Given the description of an element on the screen output the (x, y) to click on. 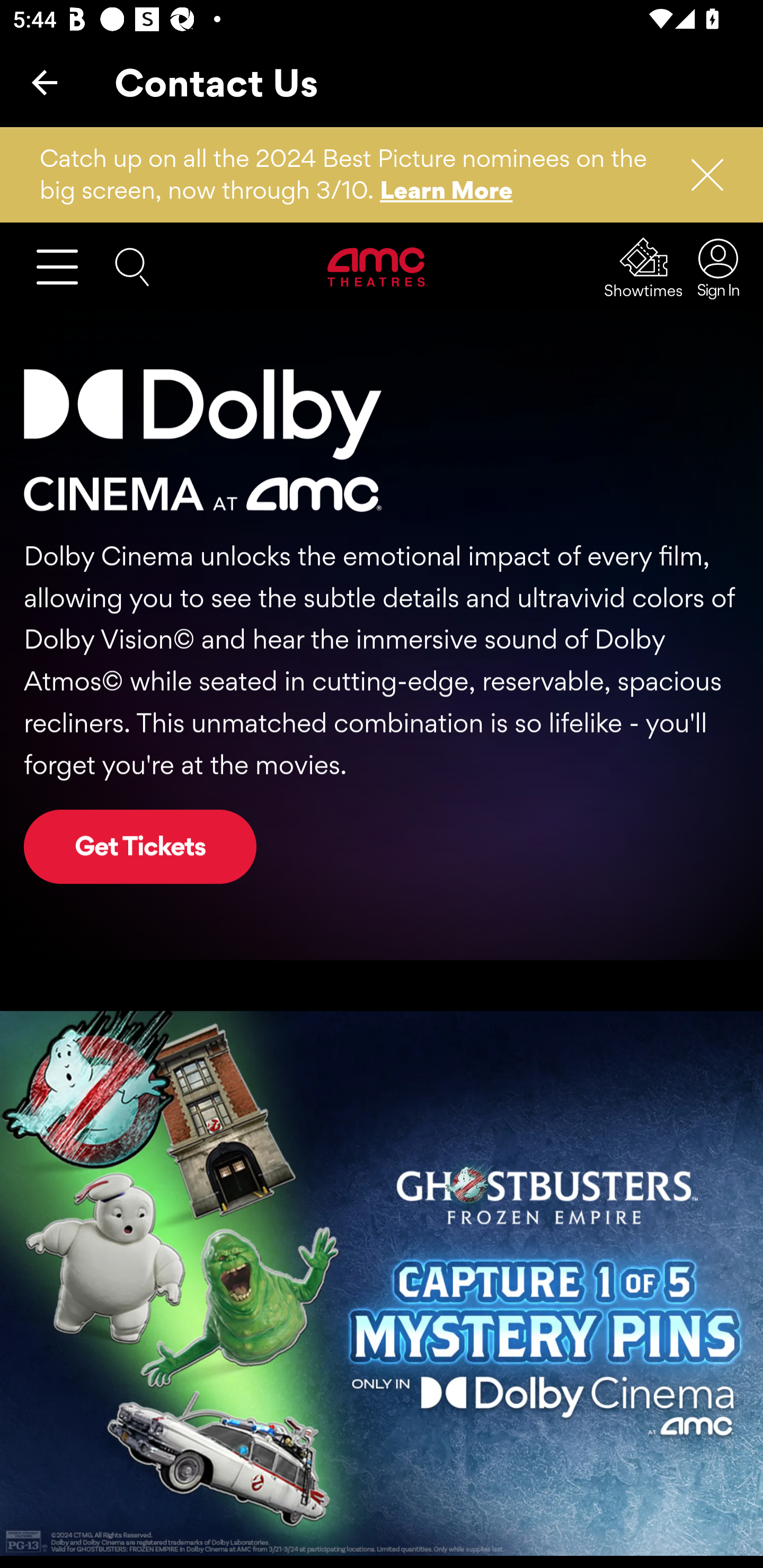
Back (44, 82)
Dismiss Notification (699, 174)
Learn More (446, 189)
Open Menu (64, 266)
Showtimes Showtimes Showtimes (643, 267)
Sign In (713, 267)
Search the AMC website (131, 265)
Visit Home Page AMC Theatres Logo (377, 266)
Get Tickets (140, 846)
